Given the description of an element on the screen output the (x, y) to click on. 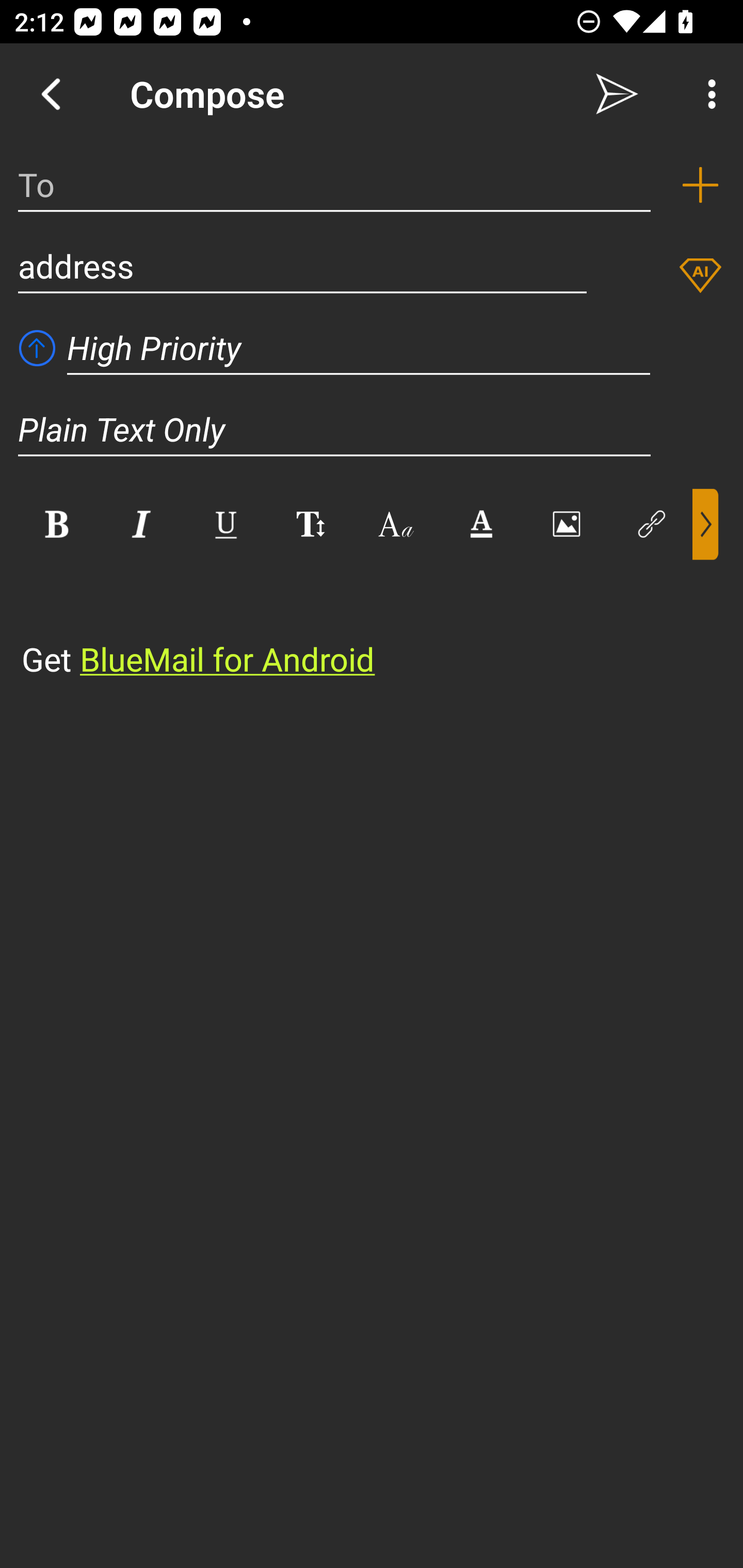
Navigate up (50, 93)
Send (616, 93)
More Options (706, 93)
To (334, 184)
Add recipient (To) (699, 184)
address (302, 266)
High Priority (358, 347)
Plain Text Only (371, 429)


⁣Get BlueMail for Android ​ (355, 620)
